Given the description of an element on the screen output the (x, y) to click on. 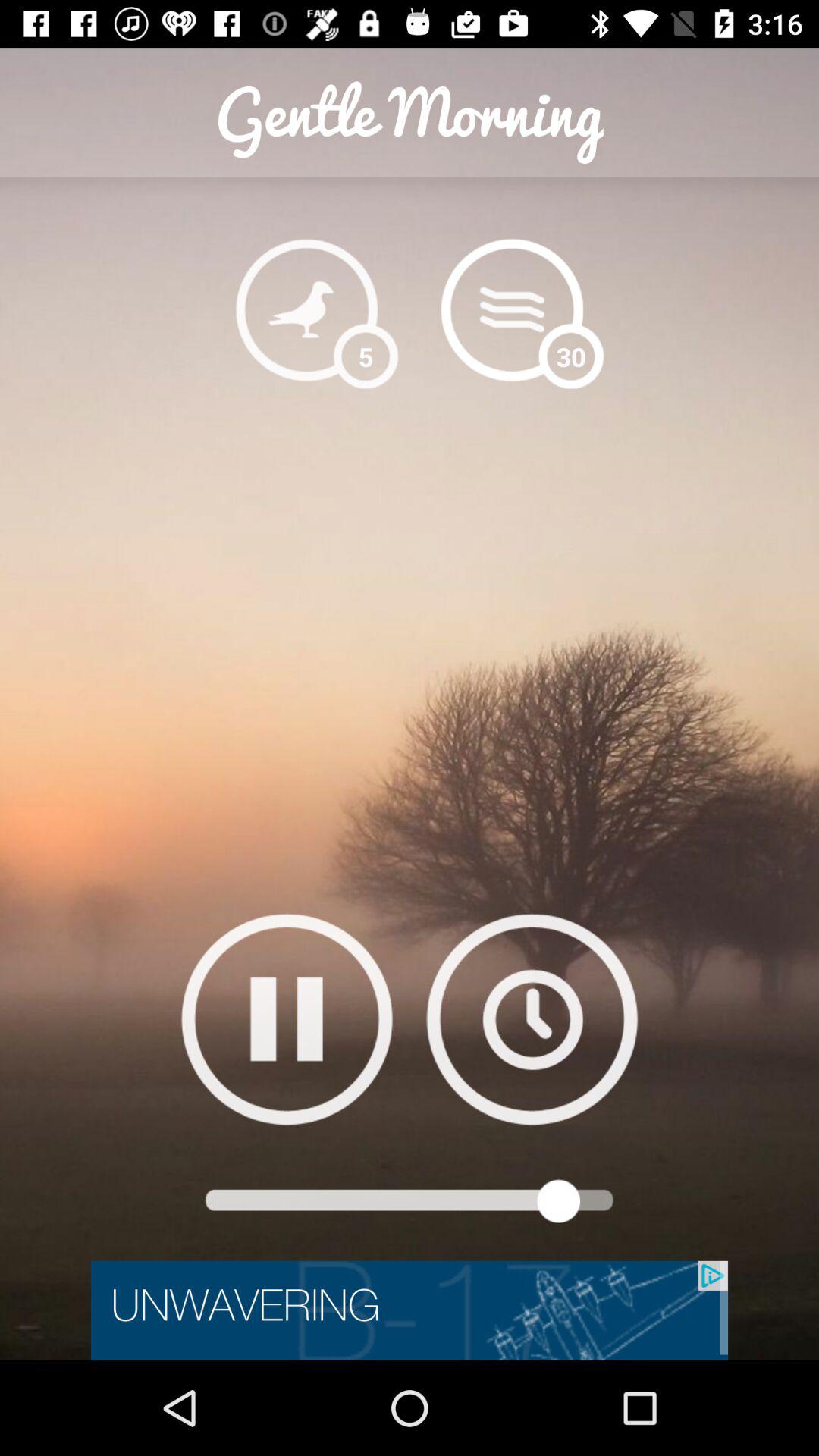
pause music (286, 1018)
